Given the description of an element on the screen output the (x, y) to click on. 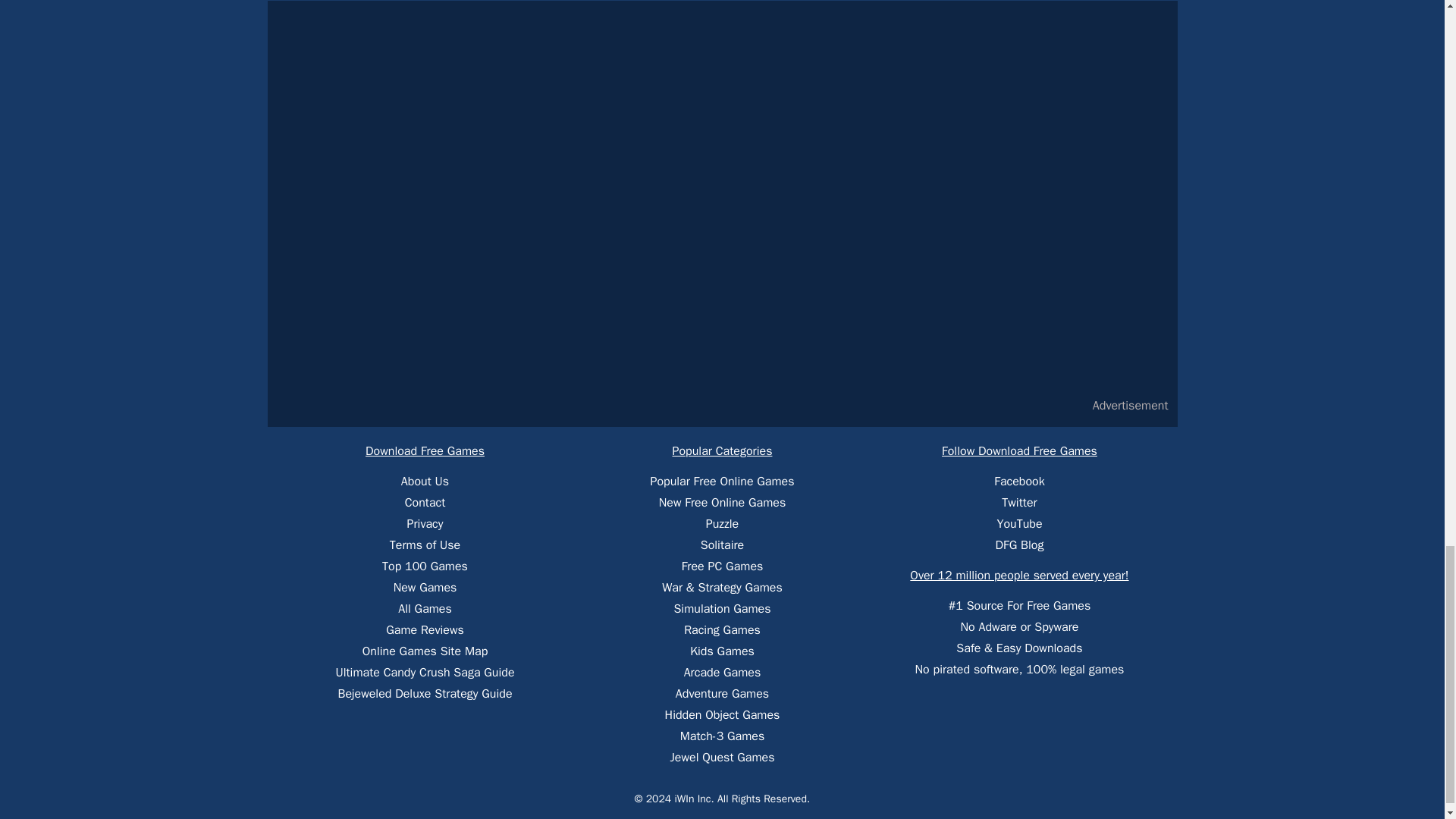
About Us (424, 481)
Contact (424, 502)
Privacy (425, 523)
Terms of Use (425, 544)
New Games (425, 587)
Top 100 Games (424, 566)
